Given the description of an element on the screen output the (x, y) to click on. 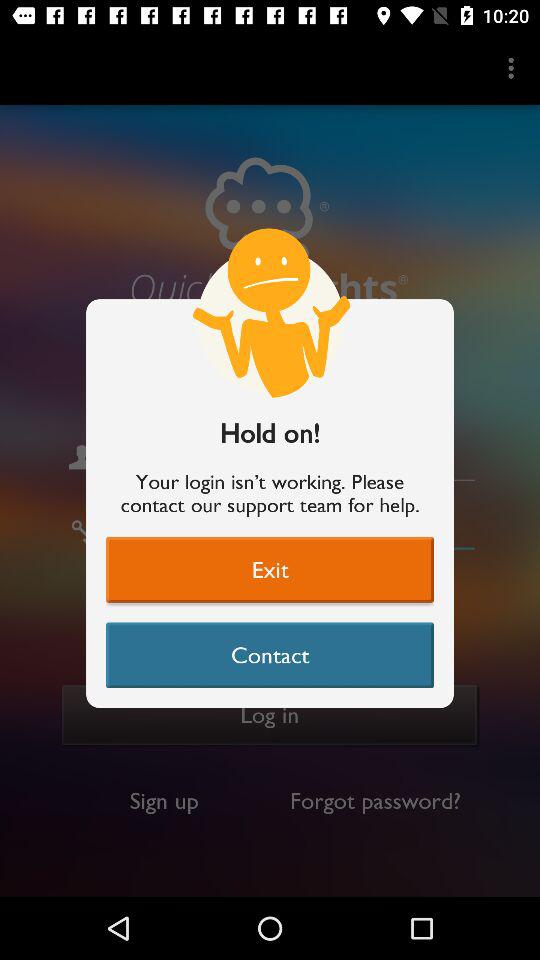
press the exit (269, 569)
